Given the description of an element on the screen output the (x, y) to click on. 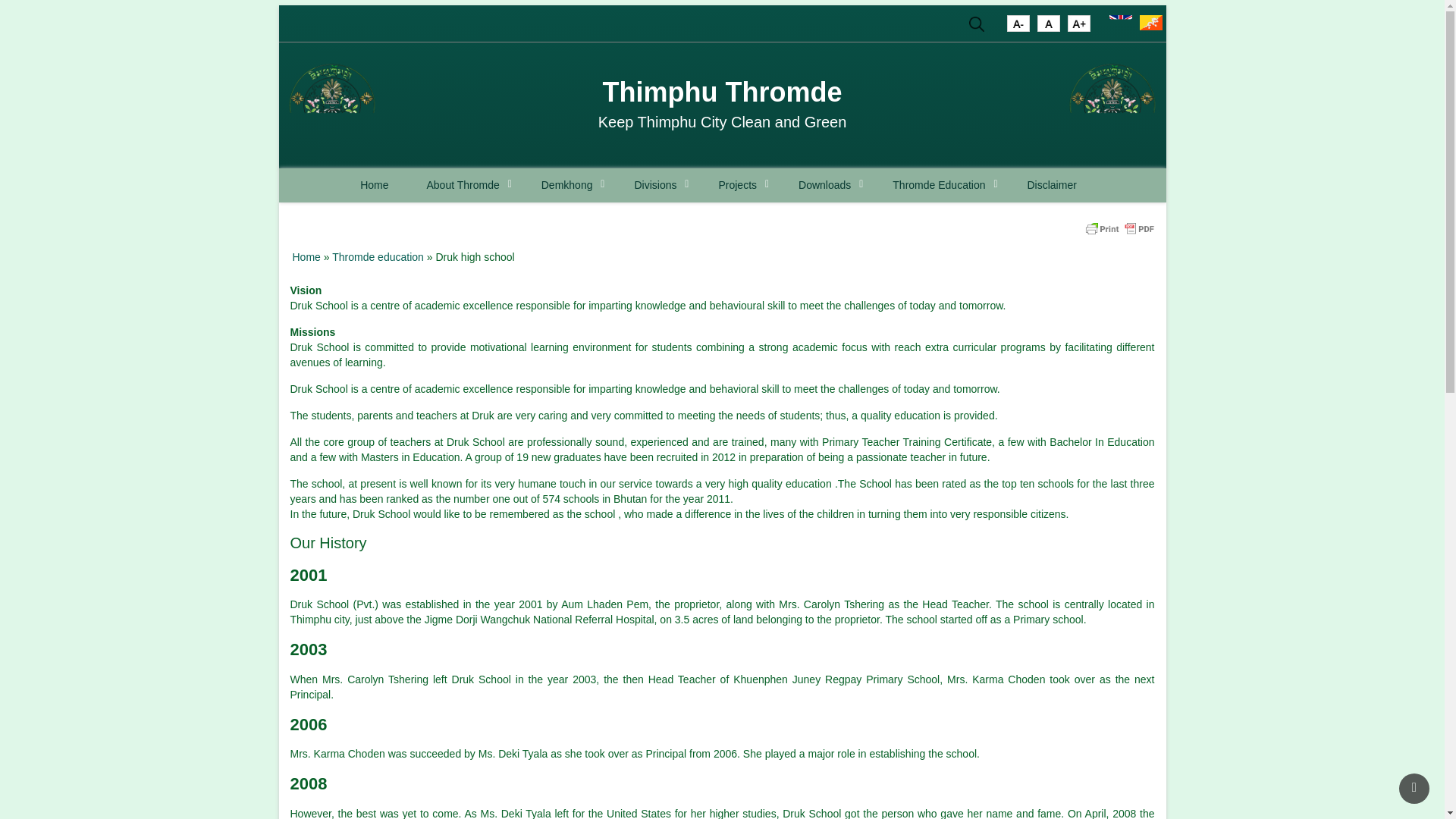
A (1018, 26)
Home (331, 105)
Home (721, 91)
Demkhong (568, 185)
Home (1112, 105)
Back to Top (1414, 788)
Home (374, 185)
Divisions (656, 185)
Thimphu Thromde (721, 91)
A (1047, 26)
Privacy Policy (1050, 185)
About Thromde (464, 185)
A (1078, 26)
